Given the description of an element on the screen output the (x, y) to click on. 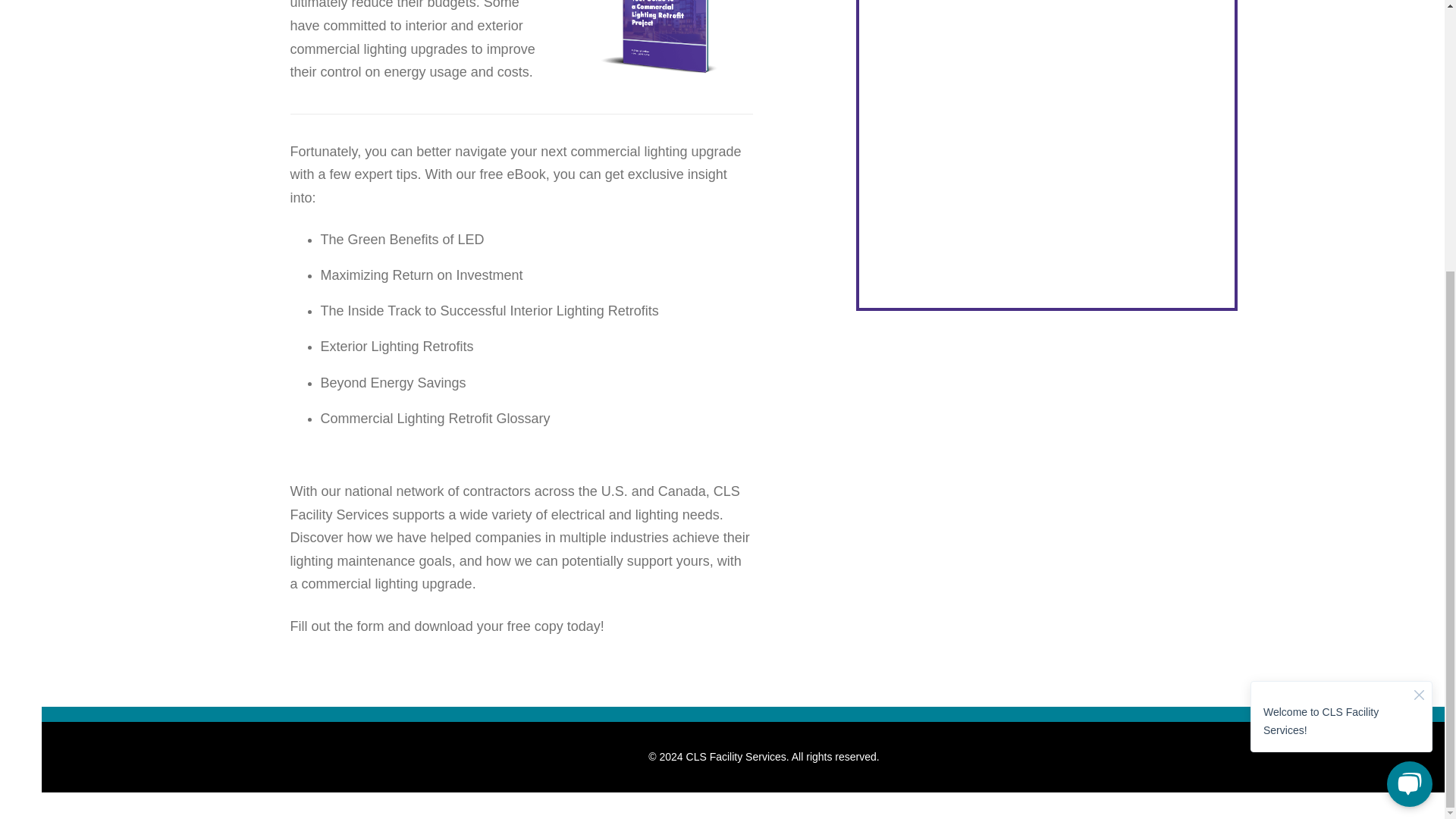
Form 0 (1046, 142)
CLS - LED Retrofits -350x350 (662, 47)
